Given the description of an element on the screen output the (x, y) to click on. 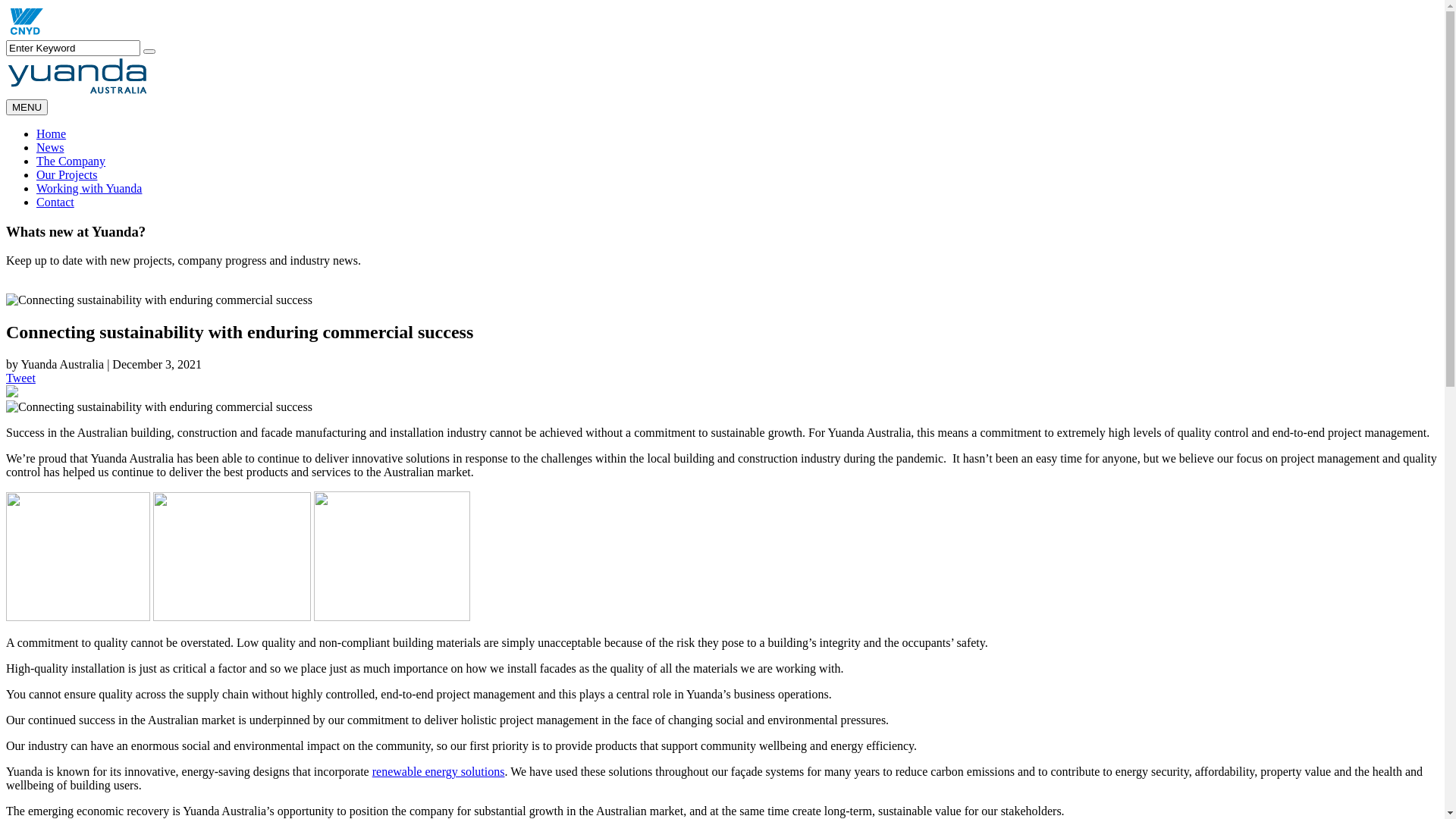
Home Element type: text (50, 133)
The Company Element type: text (70, 160)
Contact Element type: text (55, 201)
MENU Element type: text (26, 107)
Working with Yuanda Element type: text (88, 188)
News Element type: text (49, 147)
renewable energy solutions Element type: text (438, 771)
Yuanda Australia Pty Ltd Element type: hover (78, 91)
Our Projects Element type: text (66, 174)
Tweet Element type: text (20, 377)
Yuanda Australia Pty Ltd Element type: hover (24, 32)
Connecting sustainability with enduring commercial success Element type: hover (159, 407)
